Given the description of an element on the screen output the (x, y) to click on. 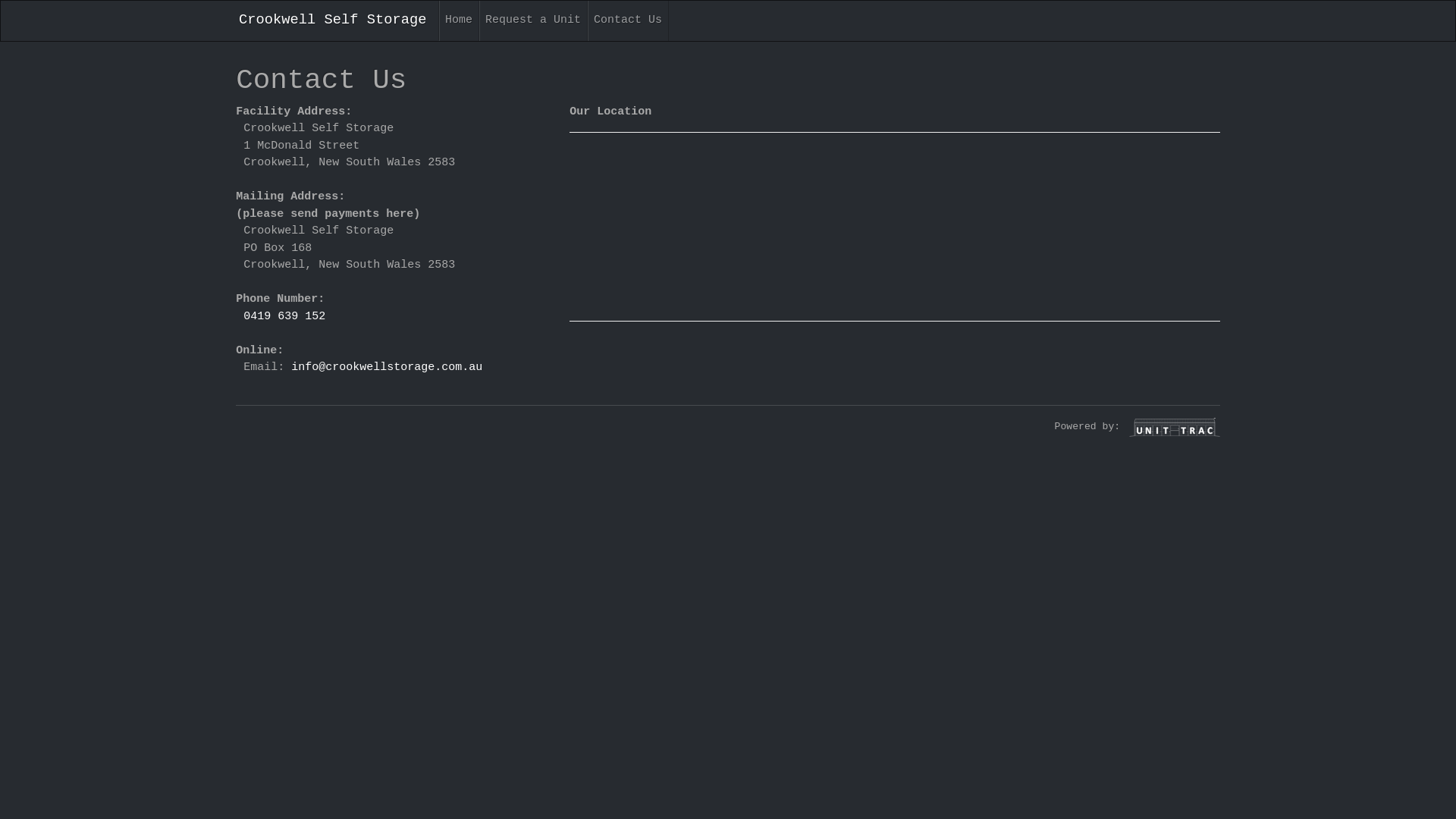
Request a Unit Element type: text (533, 20)
Home Element type: text (459, 20)
Contact Us Element type: text (627, 20)
0419 639 152 Element type: text (284, 315)
Crookwell Self Storage Element type: text (333, 20)
info@crookwellstorage.com.au Element type: text (386, 366)
